Given the description of an element on the screen output the (x, y) to click on. 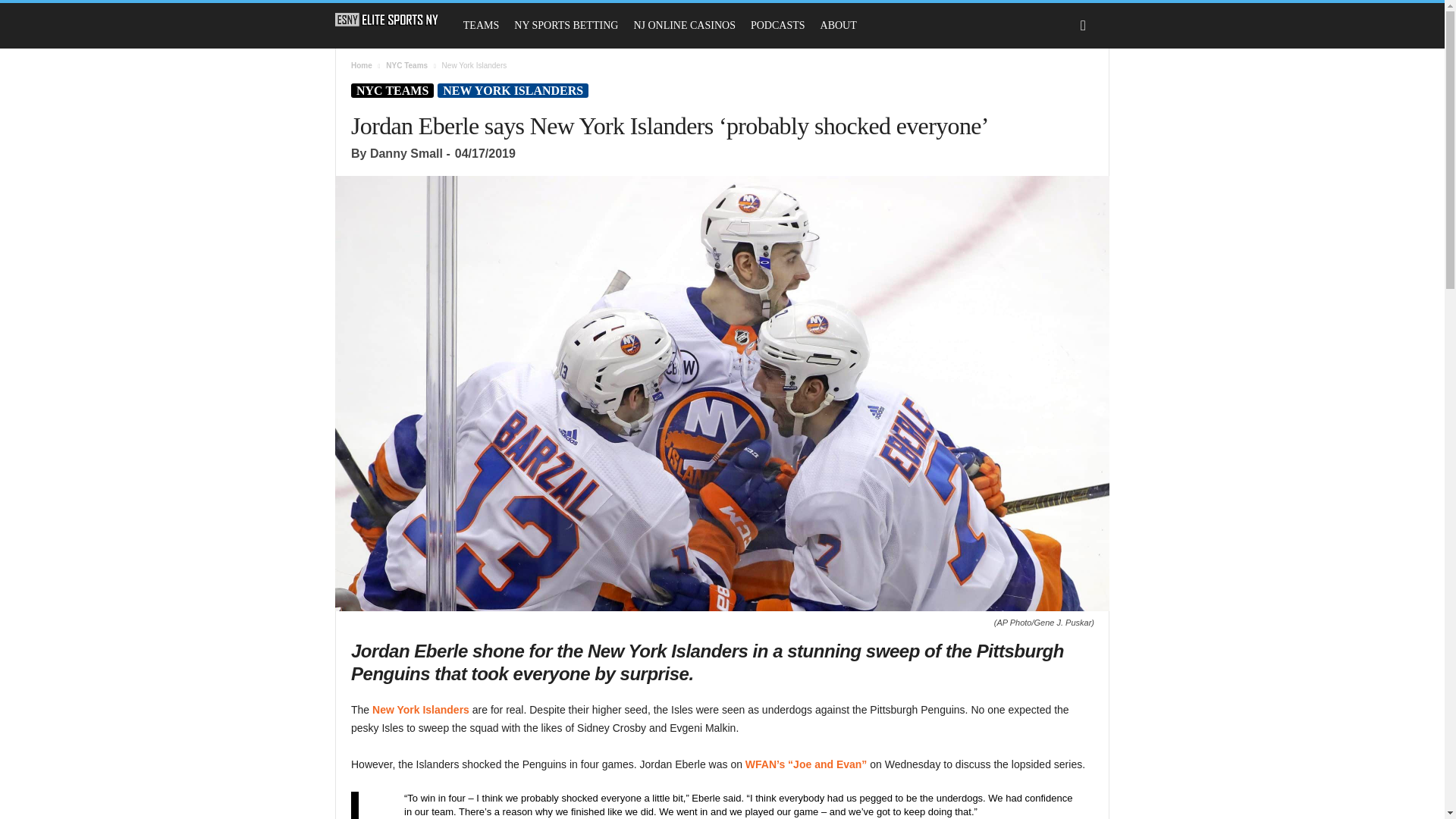
Elite Sports NY (386, 19)
View all posts in NYC Teams (406, 65)
Elite Sports NY (394, 19)
TEAMS (480, 25)
